Given the description of an element on the screen output the (x, y) to click on. 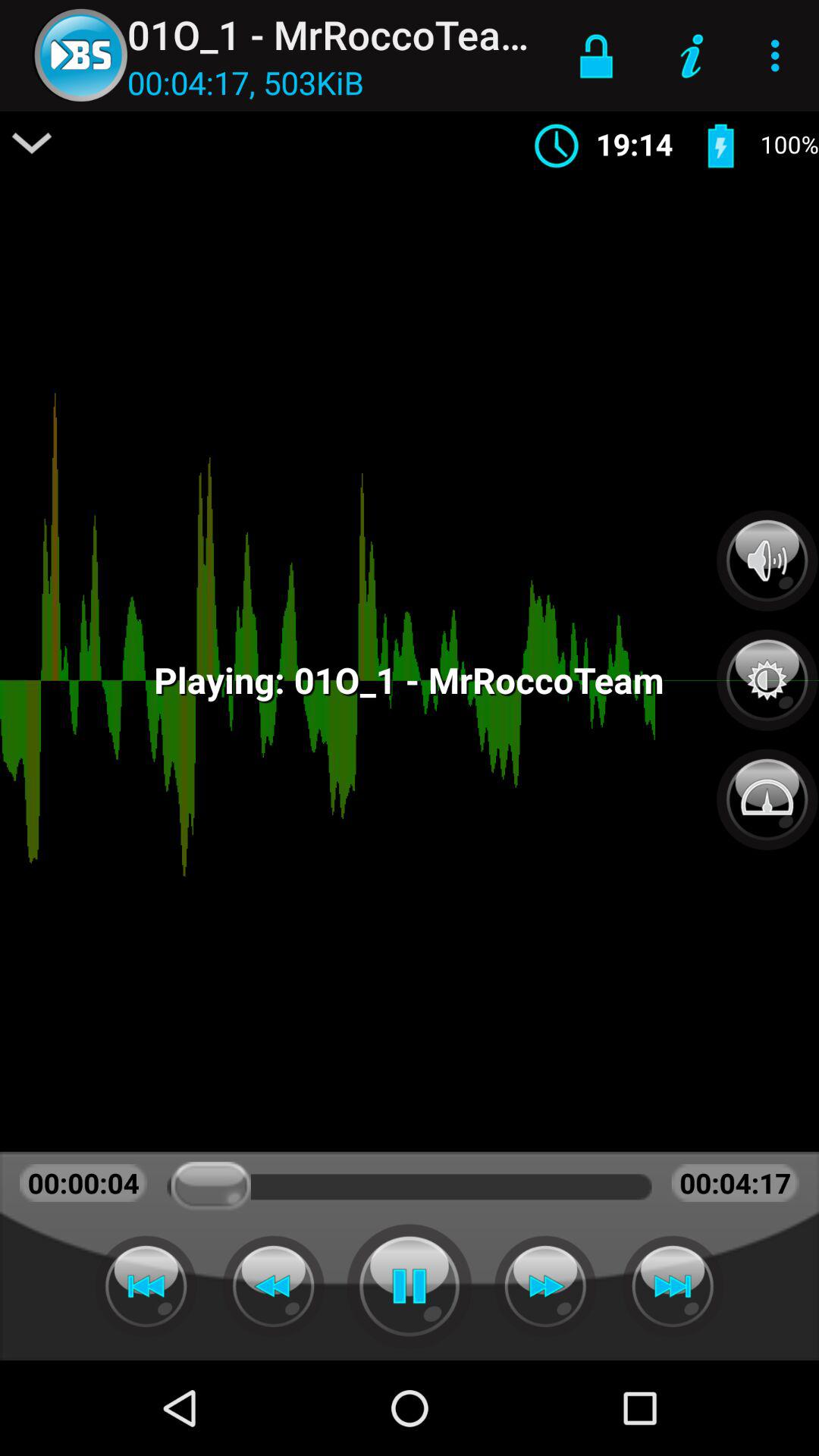
display volume controls (767, 560)
